Given the description of an element on the screen output the (x, y) to click on. 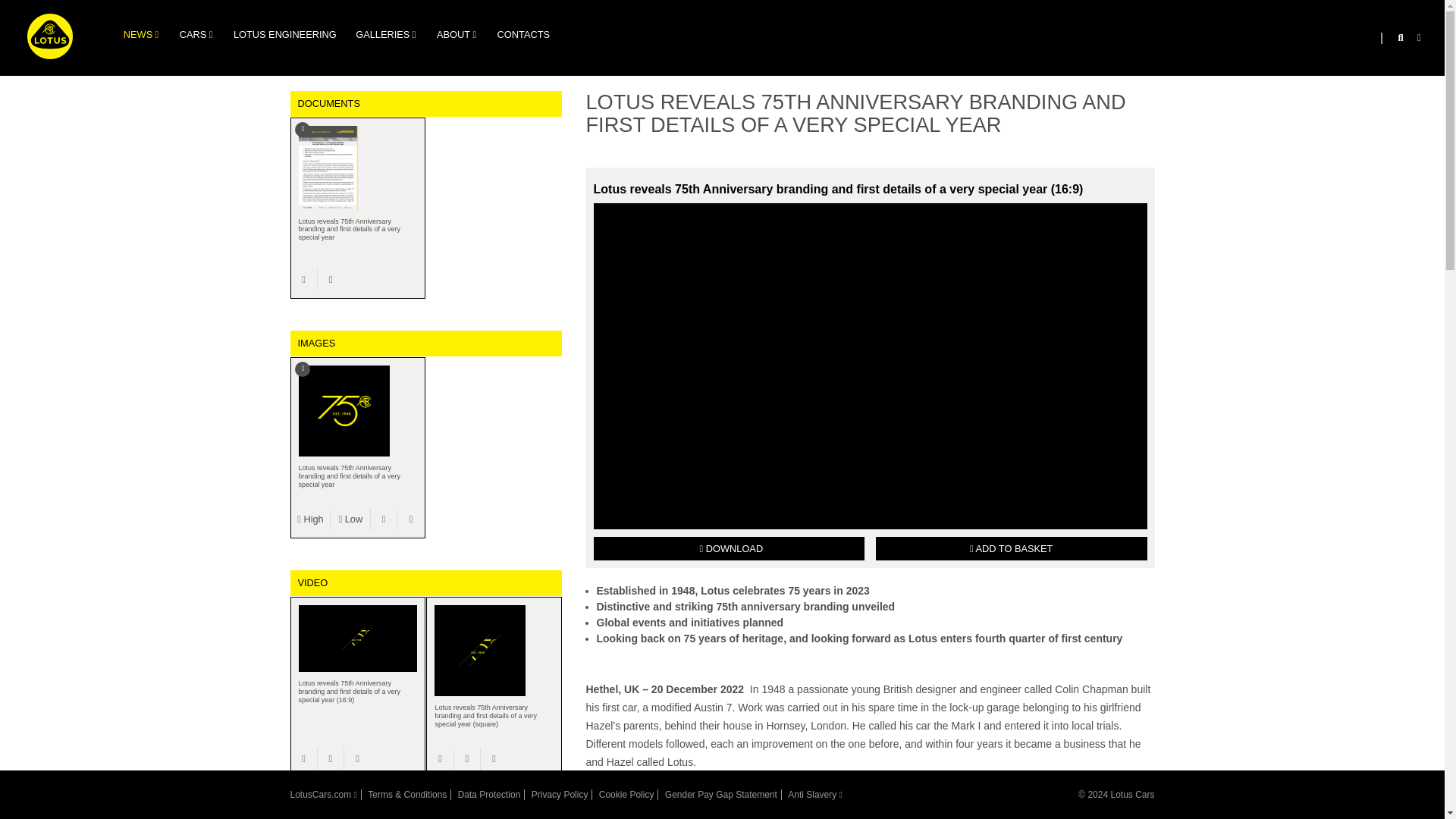
LOTUS ENGINEERING (284, 35)
ABOUT (454, 35)
CARS (192, 35)
NEWS (137, 35)
GALLERIES (382, 35)
